Given the description of an element on the screen output the (x, y) to click on. 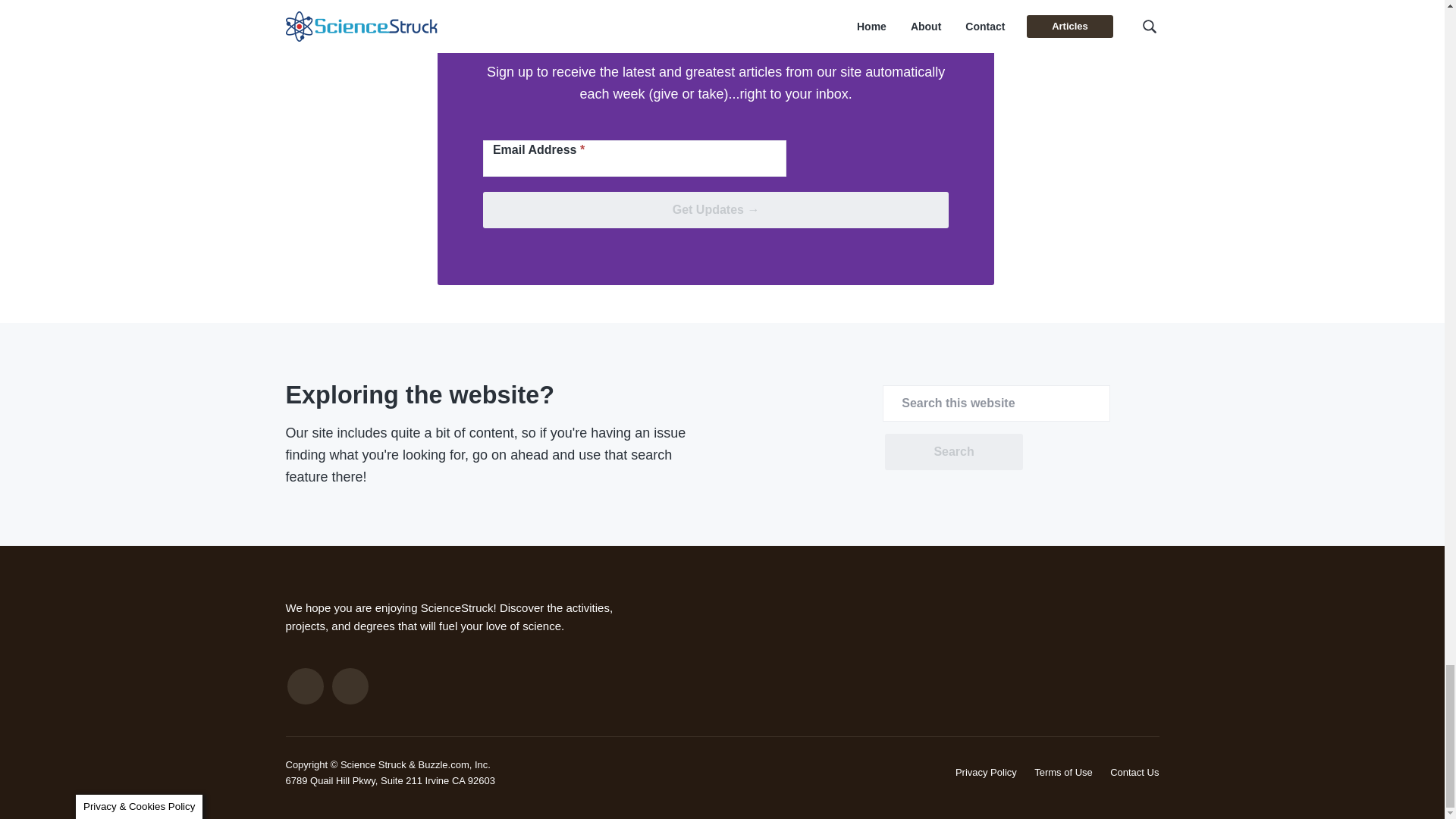
Search (953, 452)
Search (953, 452)
Terms of Use (1063, 772)
Contact Us (1133, 772)
Privacy Policy (985, 772)
Search (953, 452)
